Given the description of an element on the screen output the (x, y) to click on. 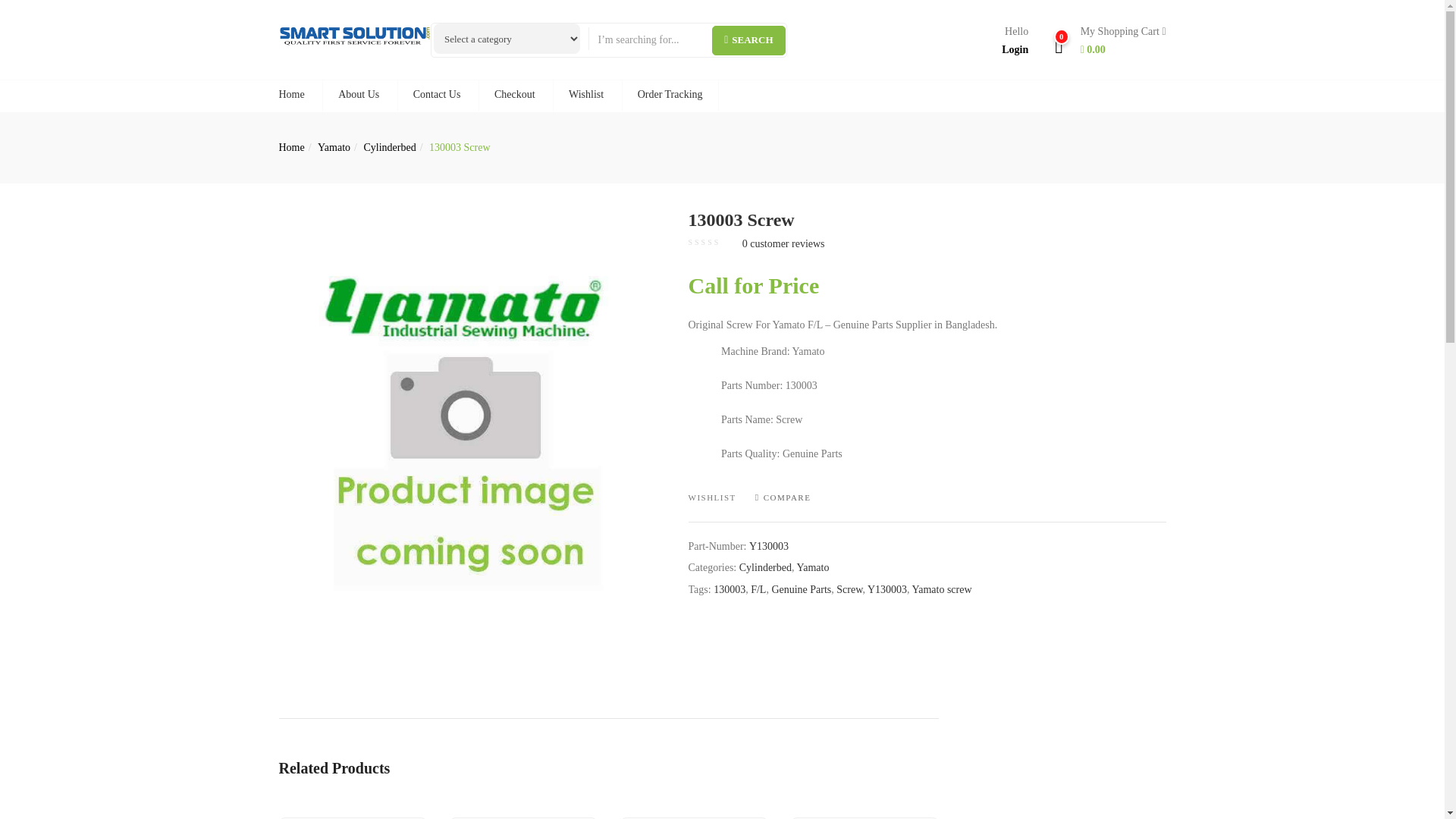
Yamato (333, 147)
SEARCH (747, 40)
Cylinderbed (388, 147)
Login (1014, 49)
View your shopping cart (1117, 40)
Home (299, 96)
Checkout (514, 96)
Wishlist (585, 96)
Login (1014, 49)
Order Tracking (670, 96)
